Given the description of an element on the screen output the (x, y) to click on. 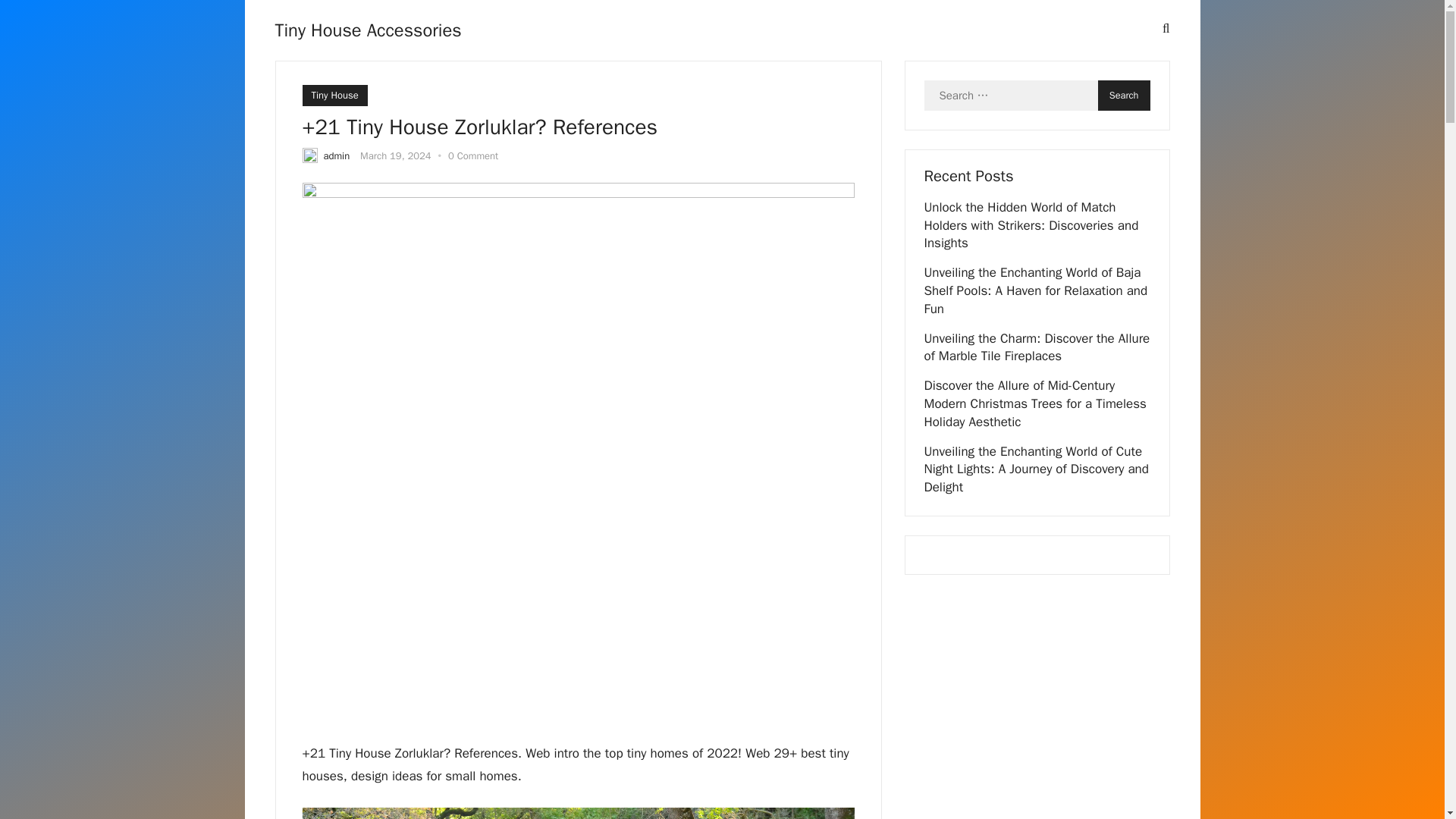
Search (1123, 95)
Tiny House Accessories (368, 30)
admin (336, 155)
Search (1123, 95)
Posts by admin (336, 155)
0 Comment (472, 155)
Tiny House (333, 95)
